Given the description of an element on the screen output the (x, y) to click on. 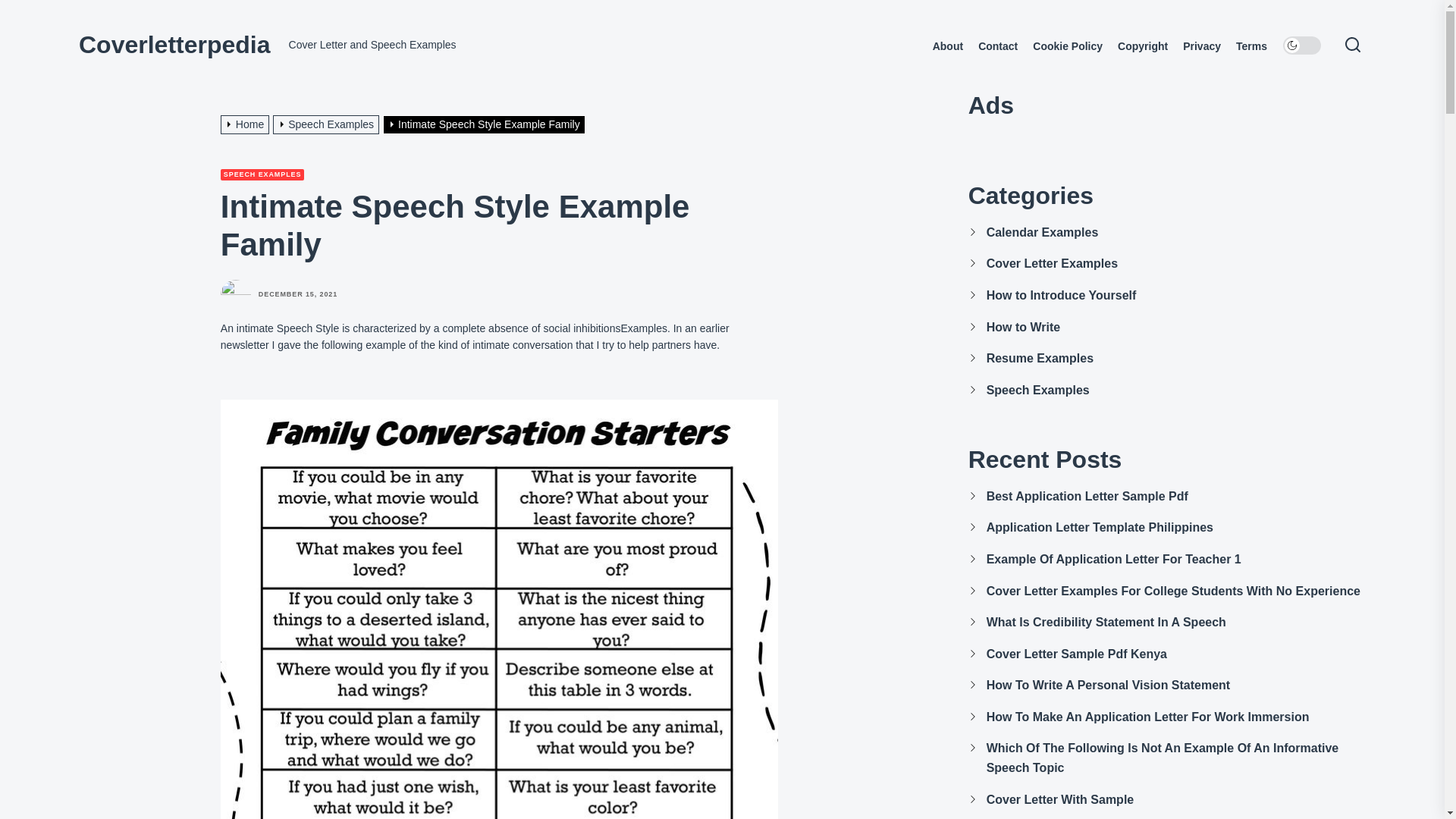
DECEMBER 15, 2021 (298, 294)
Cookie Policy (1067, 46)
SPEECH EXAMPLES (262, 174)
Speech Examples (327, 123)
Terms (1251, 46)
Intimate Speech Style Example Family (485, 123)
Contact (997, 46)
Coverletterpedia (174, 44)
Privacy (1201, 46)
Copyright (1142, 46)
Home (247, 123)
About (947, 46)
